Given the description of an element on the screen output the (x, y) to click on. 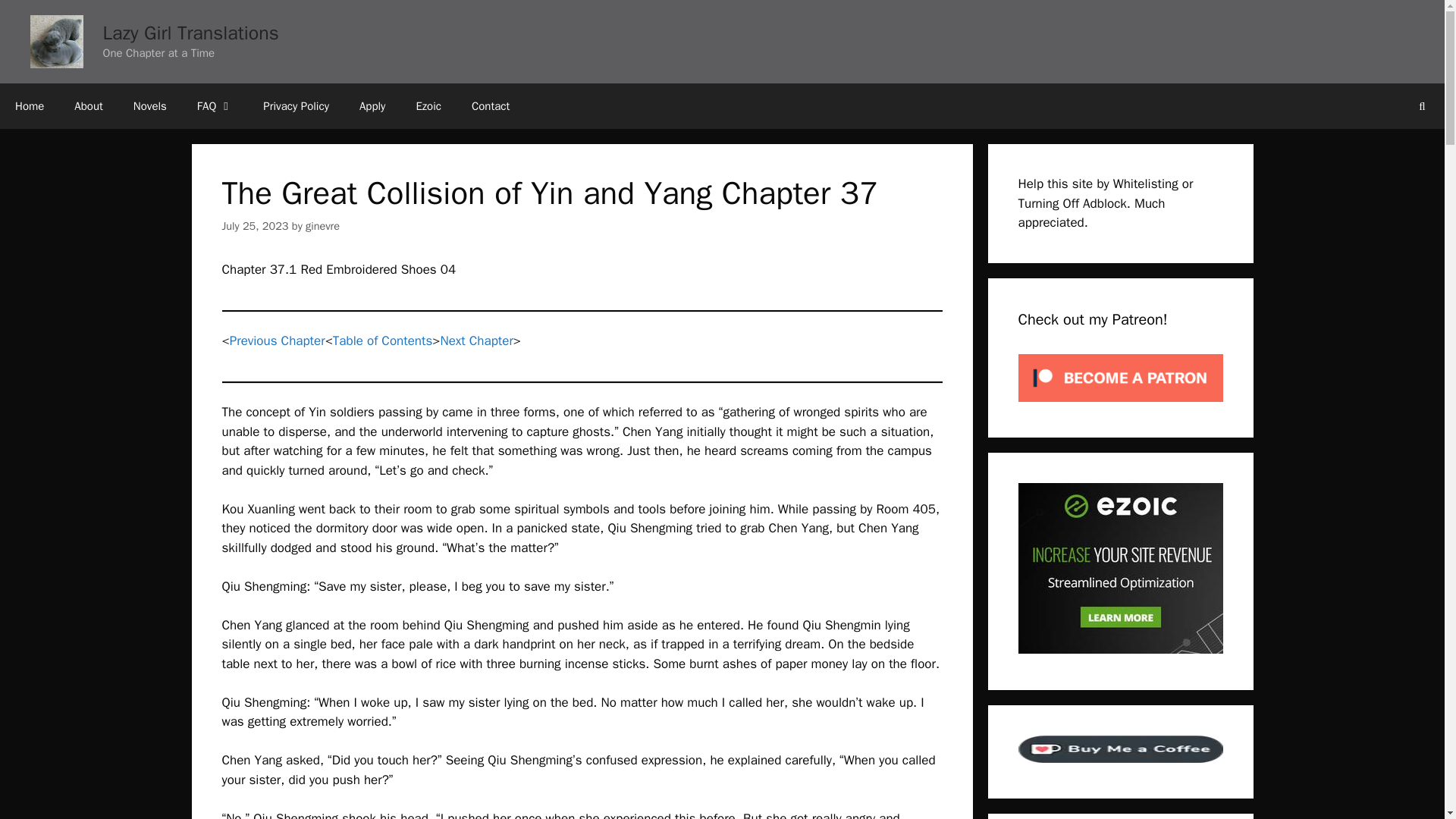
ginevre (322, 225)
Table of Contents (382, 340)
Previous Chapter (277, 340)
Lazy Girl Translations (56, 41)
Privacy Policy (295, 105)
Contact (490, 105)
Ezoic (428, 105)
FAQ (214, 105)
Lazy Girl Translations (191, 33)
Novels (149, 105)
